Given the description of an element on the screen output the (x, y) to click on. 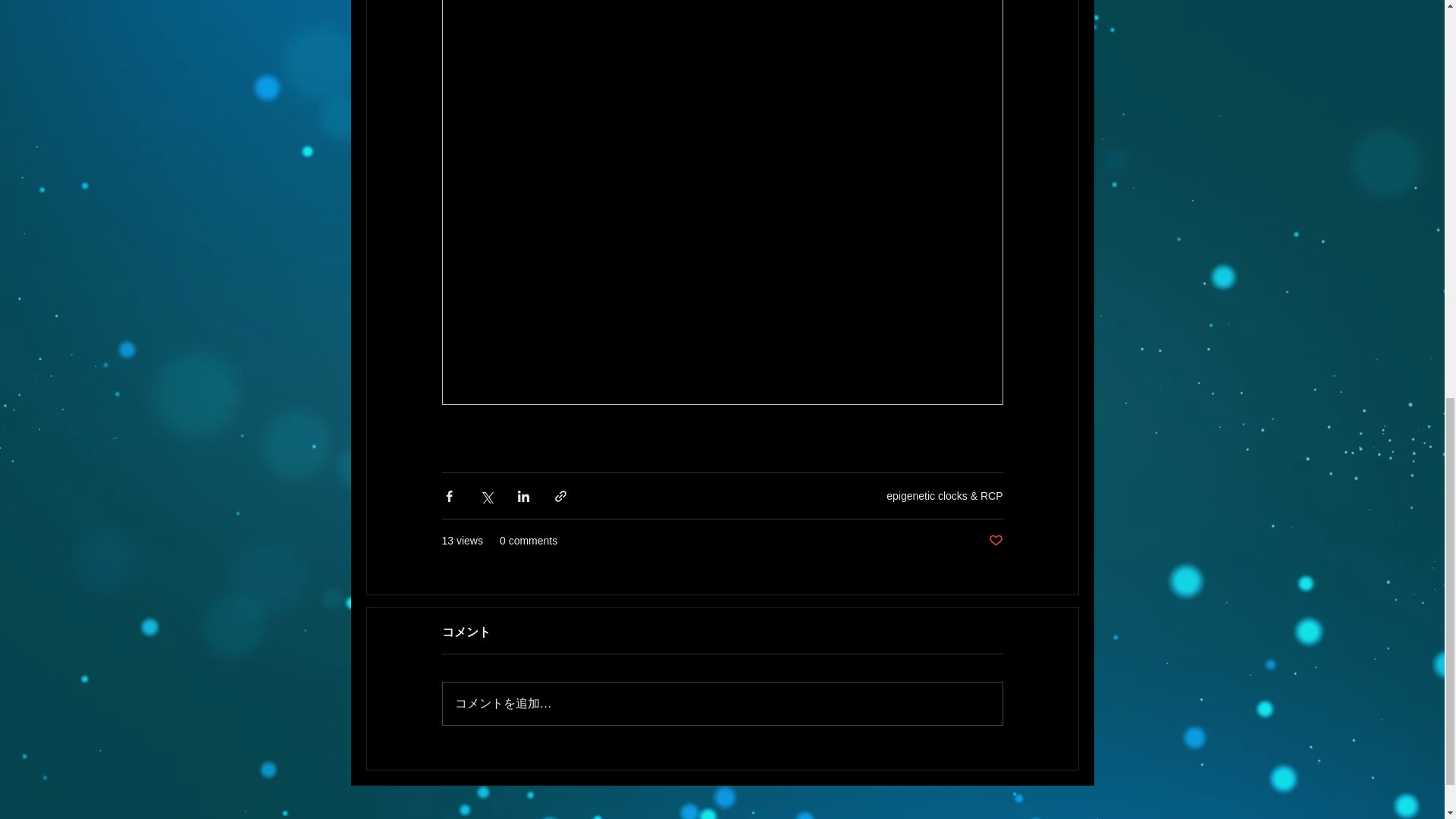
Post not marked as liked (995, 540)
